Given the description of an element on the screen output the (x, y) to click on. 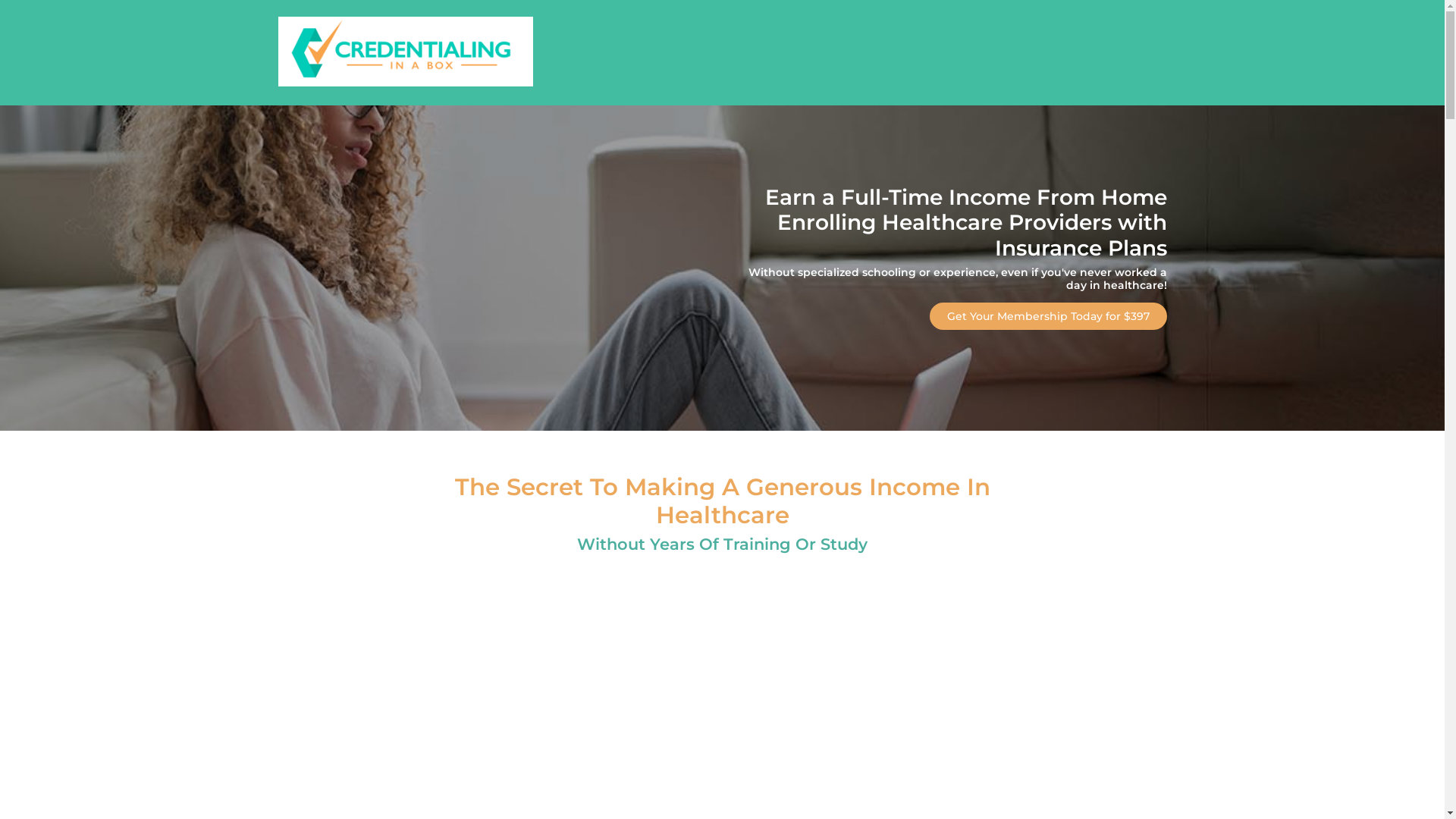
Get Your Membership Today for $397 Element type: text (1048, 315)
